Given the description of an element on the screen output the (x, y) to click on. 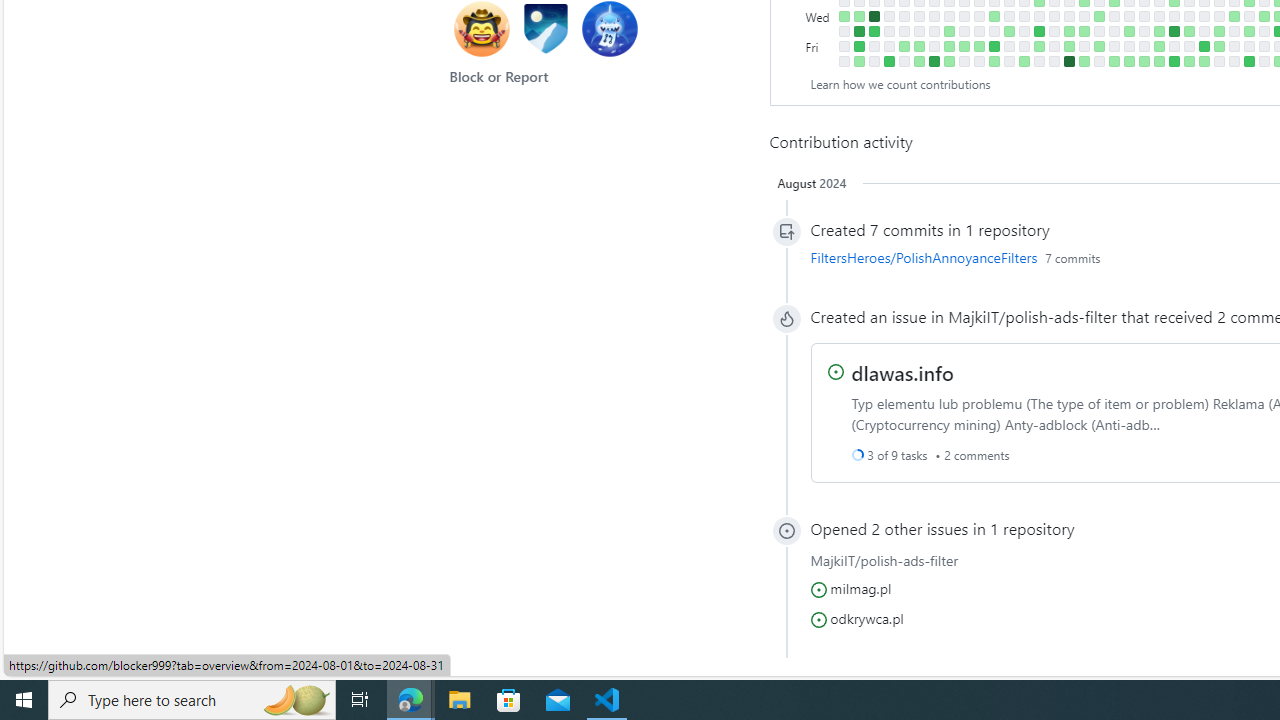
No contributions on April 3rd. (1038, 16)
No contributions on January 24th. (888, 16)
No contributions on April 10th. (1053, 16)
3 contributions on April 19th. (1068, 46)
8 contributions on February 17th. (933, 61)
5 contributions on April 4th. (1038, 30)
No contributions on July 20th. (1263, 61)
No contributions on January 19th. (873, 46)
No contributions on May 22nd. (1143, 16)
No contributions on June 7th. (1173, 46)
3 contributions on March 1st. (963, 46)
dlawas.info (902, 371)
1 contribution on May 25th. (1143, 61)
No contributions on March 20th. (1009, 16)
No contributions on May 10th. (1114, 46)
